Given the description of an element on the screen output the (x, y) to click on. 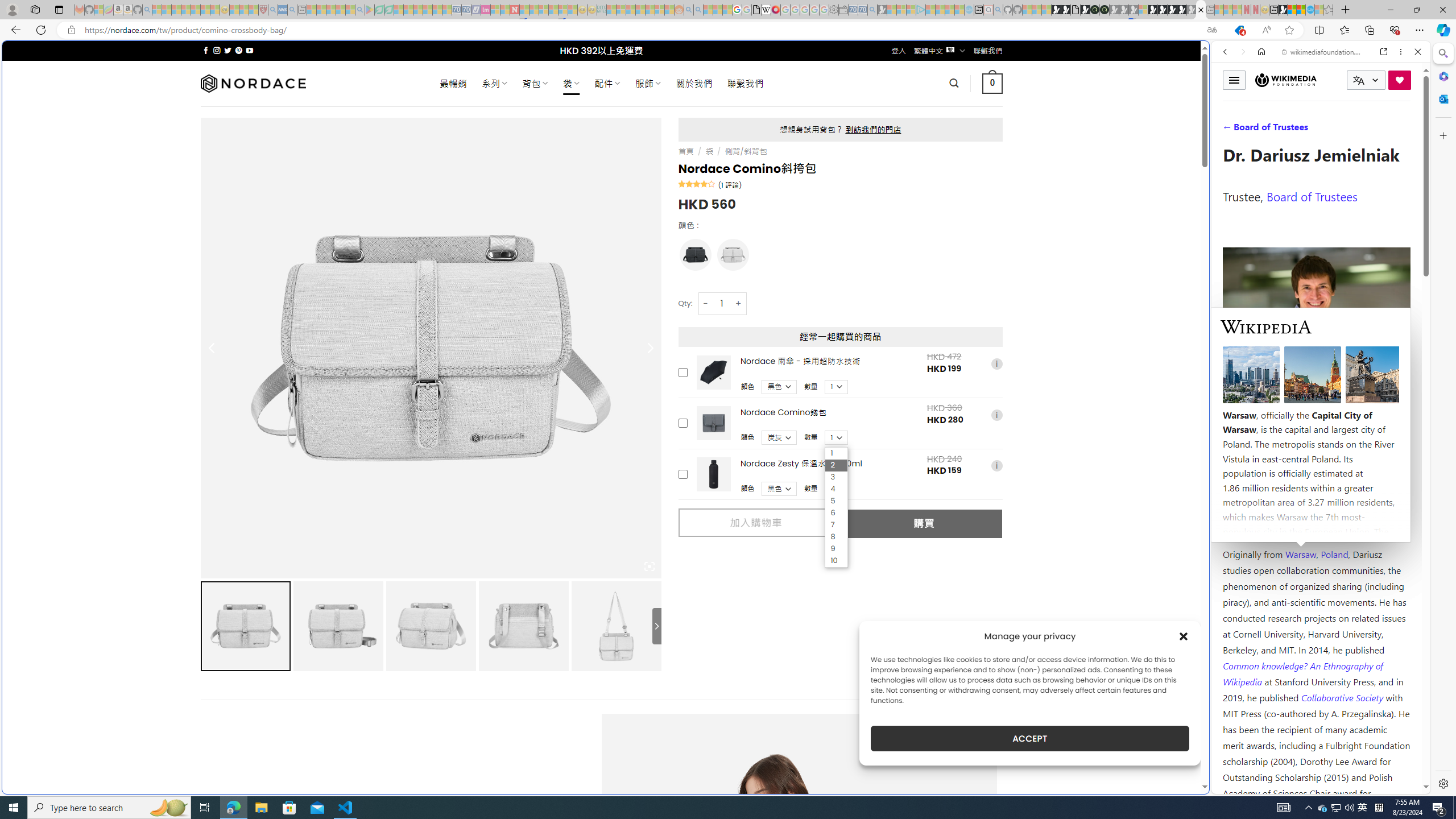
Collaborative Society  (1343, 697)
Kozminski University (1316, 486)
Follow on Twitter (227, 50)
5 (836, 500)
